Given the description of an element on the screen output the (x, y) to click on. 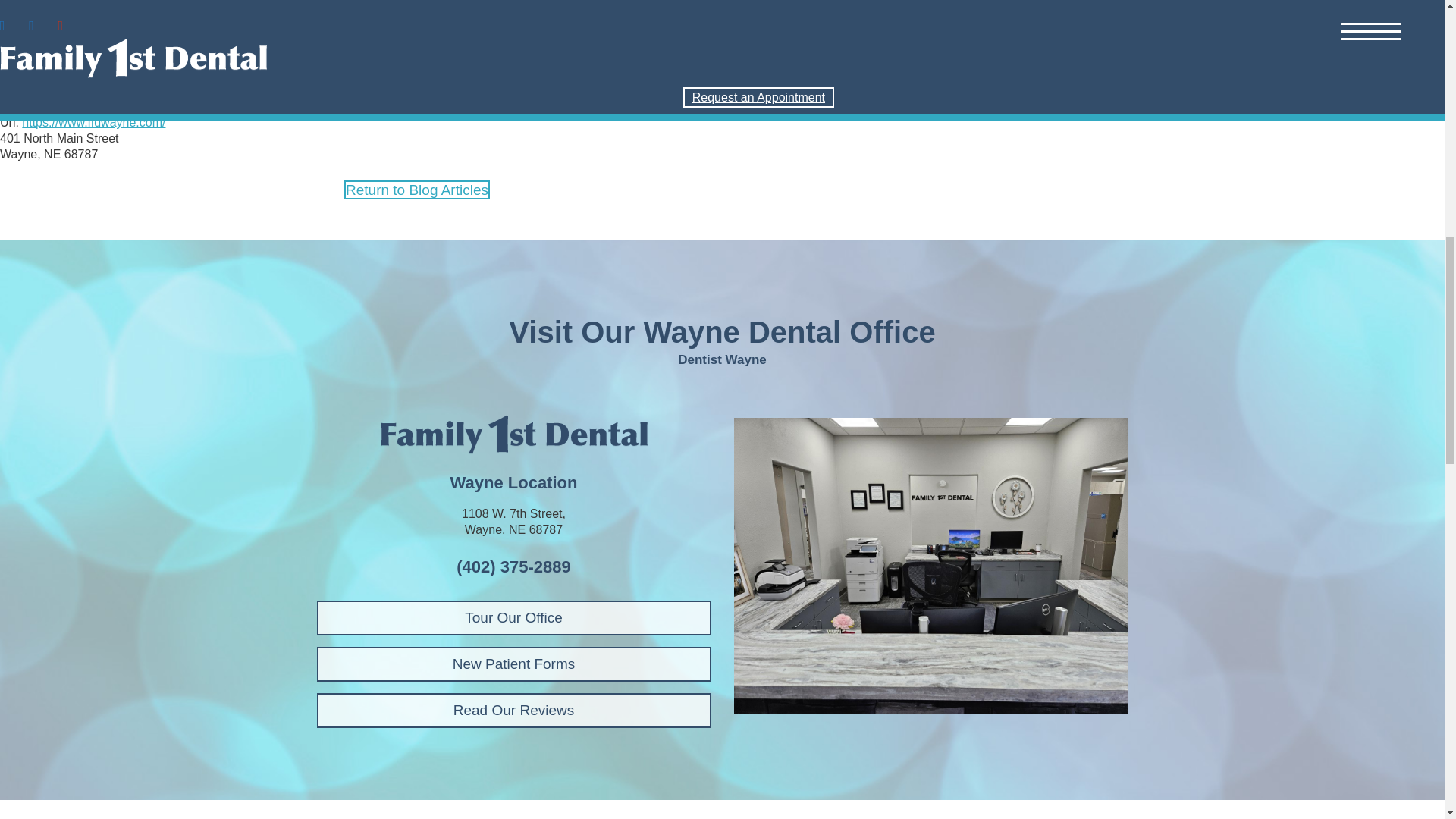
a (930, 565)
